Given the description of an element on the screen output the (x, y) to click on. 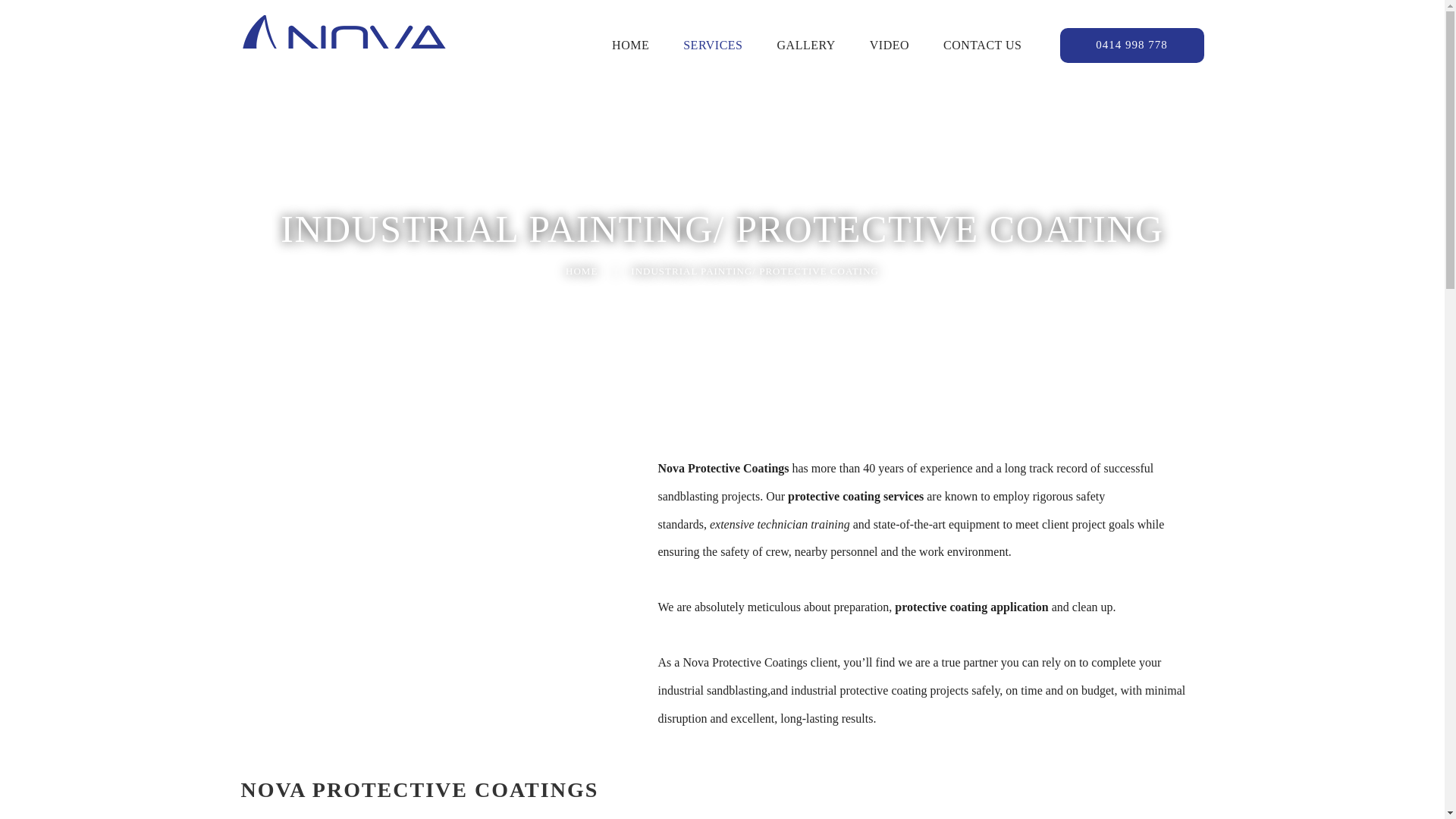
0414 998 778 (1131, 45)
HOME (581, 270)
CONTACT US (982, 45)
GALLERY (806, 45)
Home (581, 270)
SERVICES (712, 45)
HOME (630, 45)
VIDEO (888, 45)
Nova Coatings (345, 43)
